Given the description of an element on the screen output the (x, y) to click on. 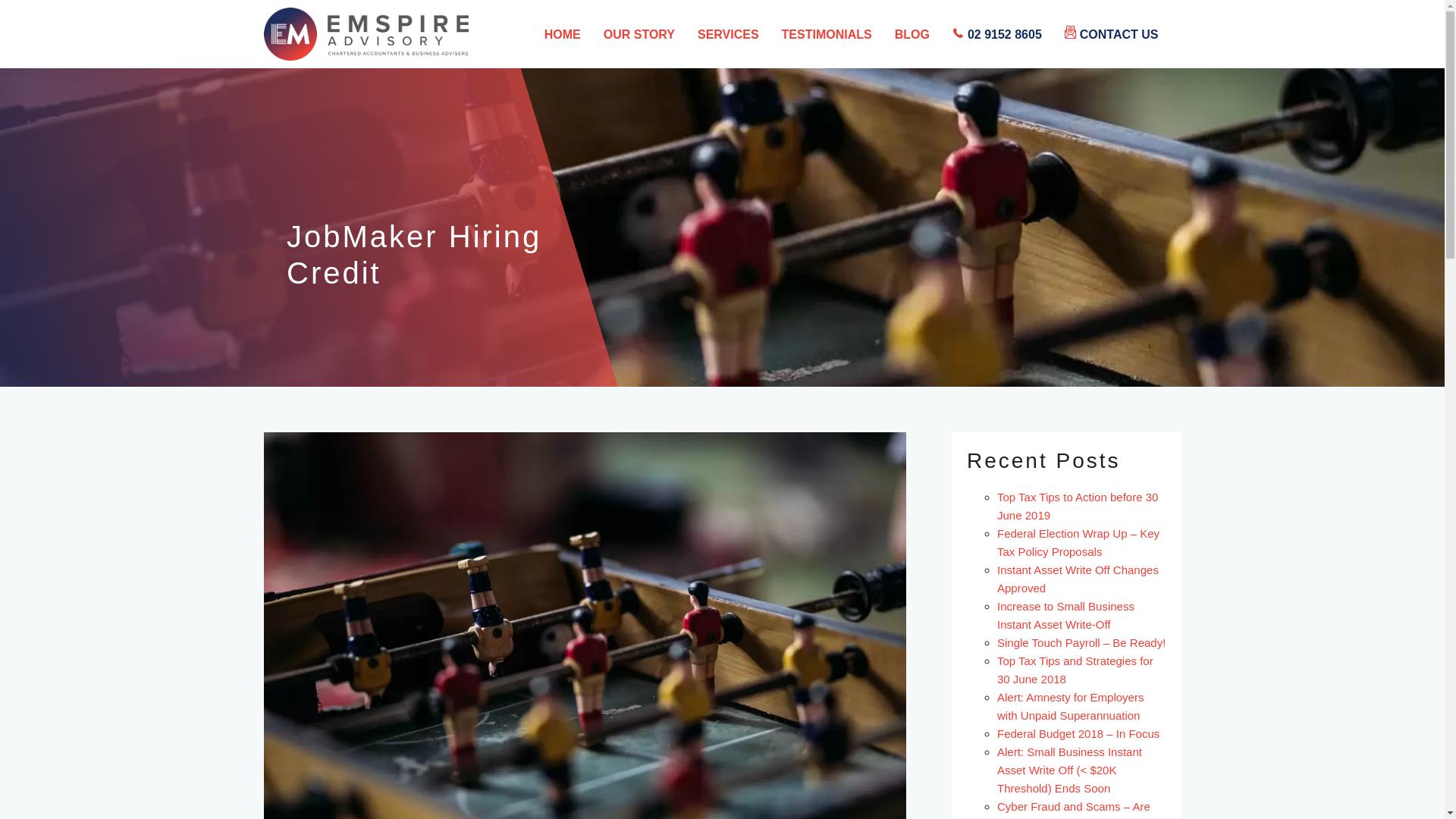
Instant Asset Write Off Changes Approved Element type: text (1077, 578)
02 9152 8605 Element type: text (1004, 34)
BLOG Element type: text (911, 34)
EMspire Element type: hover (369, 33)
Top Tax Tips to Action before 30 June 2019 Element type: text (1077, 505)
Increase to Small Business Instant Asset Write-Off Element type: text (1065, 614)
CONTACT US Element type: text (1118, 34)
TESTIMONIALS Element type: text (826, 34)
SERVICES Element type: text (728, 34)
HOME Element type: text (562, 34)
Alert: Amnesty for Employers with Unpaid Superannuation Element type: text (1070, 705)
Top Tax Tips and Strategies for 30 June 2018 Element type: text (1075, 669)
OUR STORY Element type: text (638, 34)
